Given the description of an element on the screen output the (x, y) to click on. 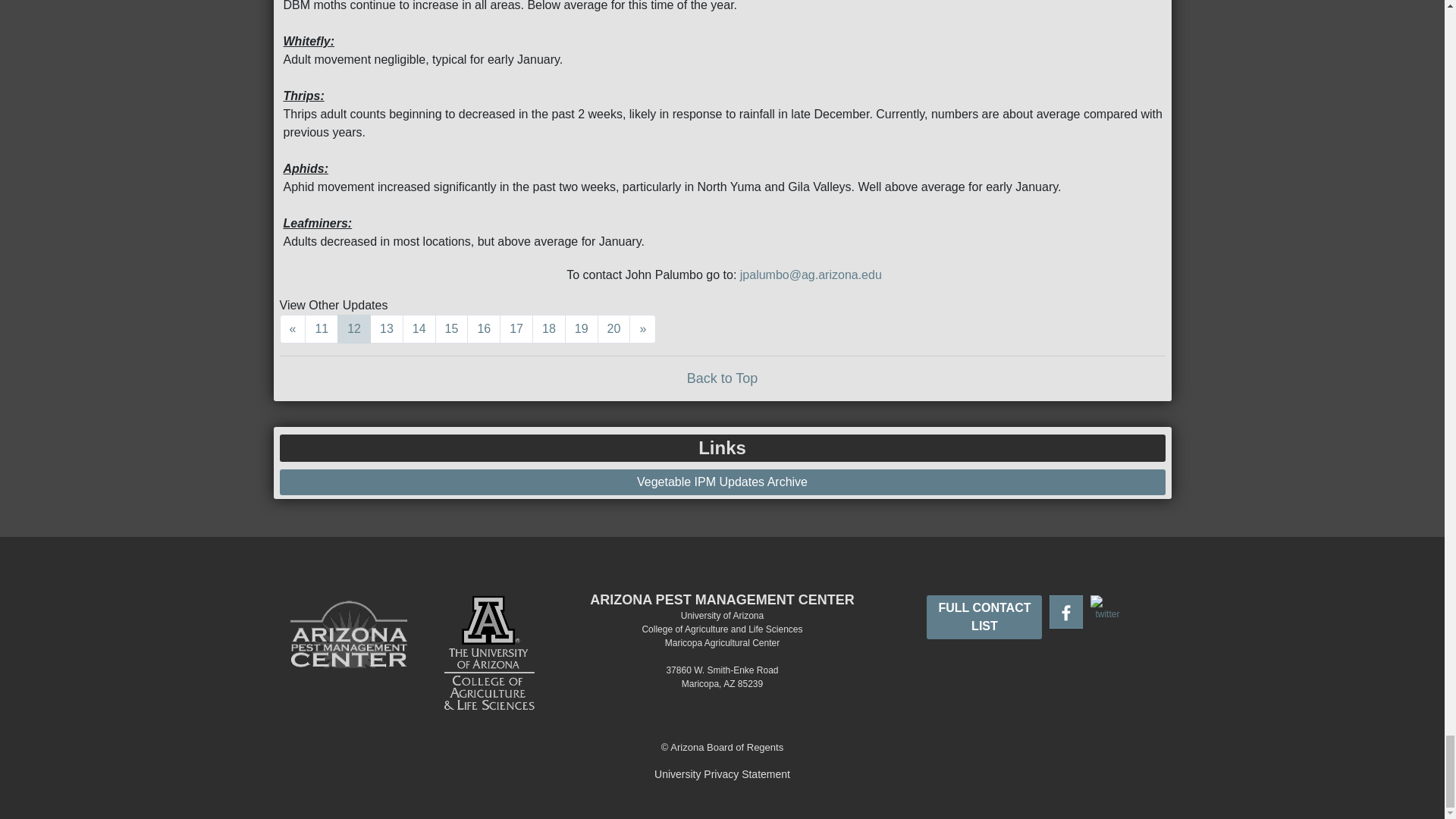
APMC Logo BW Inverted (348, 650)
twitter (1107, 607)
facebook (1066, 611)
